Given the description of an element on the screen output the (x, y) to click on. 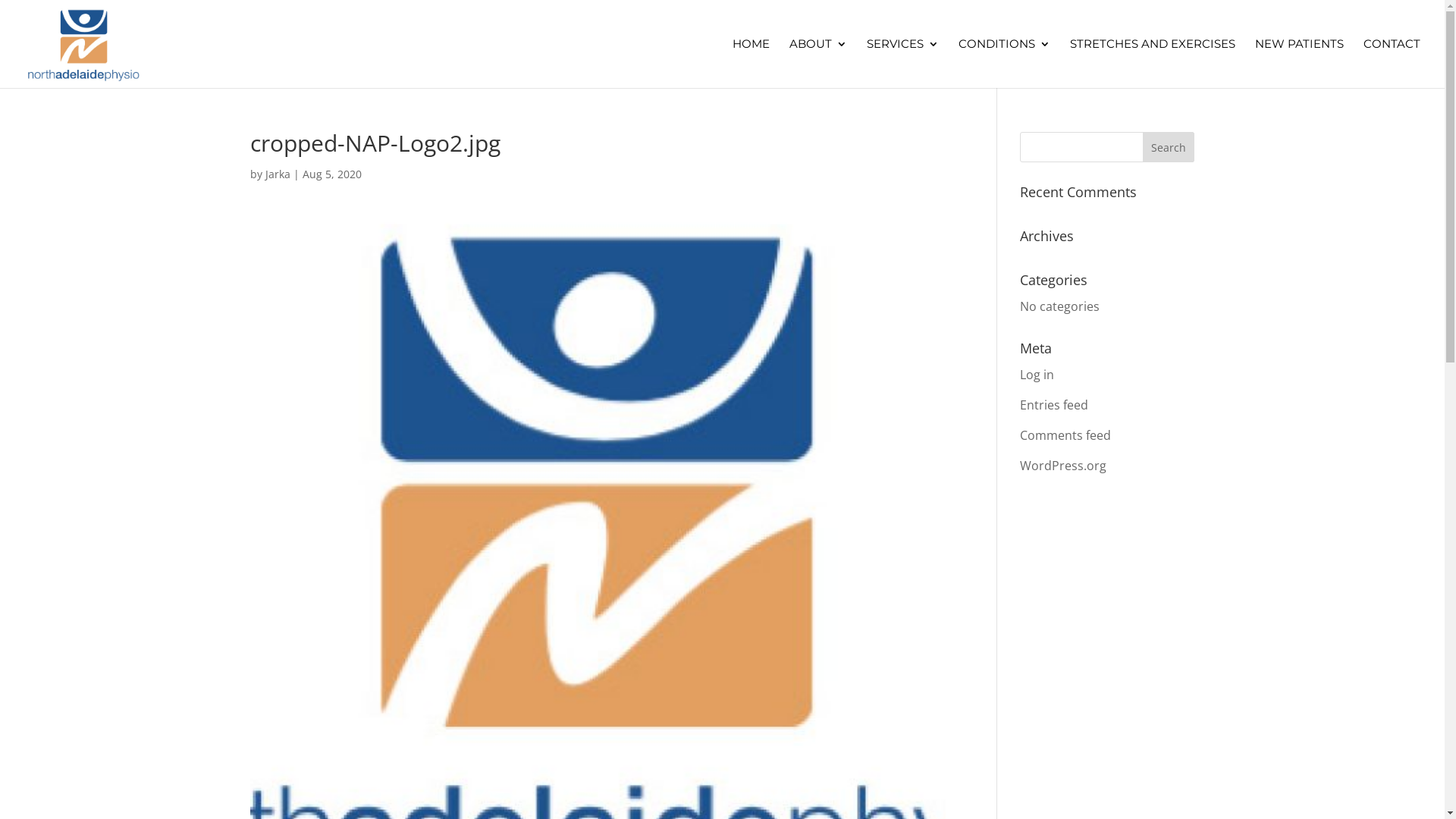
ABOUT Element type: text (818, 62)
Entries feed Element type: text (1053, 404)
CONTACT Element type: text (1391, 62)
HOME Element type: text (750, 62)
CONDITIONS Element type: text (1004, 62)
STRETCHES AND EXERCISES Element type: text (1152, 62)
WordPress.org Element type: text (1062, 465)
Log in Element type: text (1036, 374)
NEW PATIENTS Element type: text (1299, 62)
Search Element type: text (1168, 146)
Comments feed Element type: text (1064, 434)
Jarka Element type: text (277, 173)
SERVICES Element type: text (902, 62)
